Given the description of an element on the screen output the (x, y) to click on. 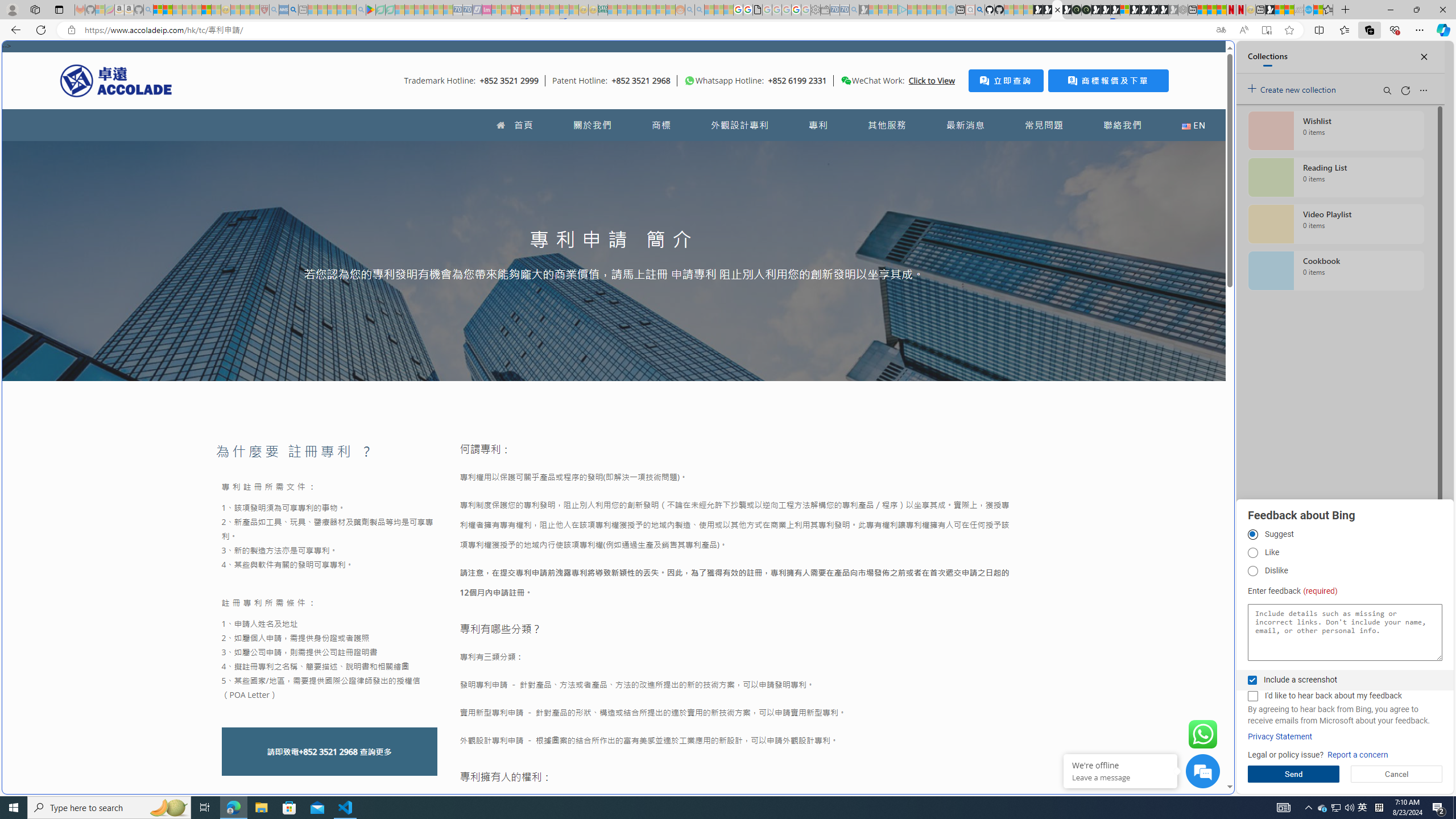
utah sues federal government - Search (292, 9)
utah sues federal government - Search (922, 389)
